Given the description of an element on the screen output the (x, y) to click on. 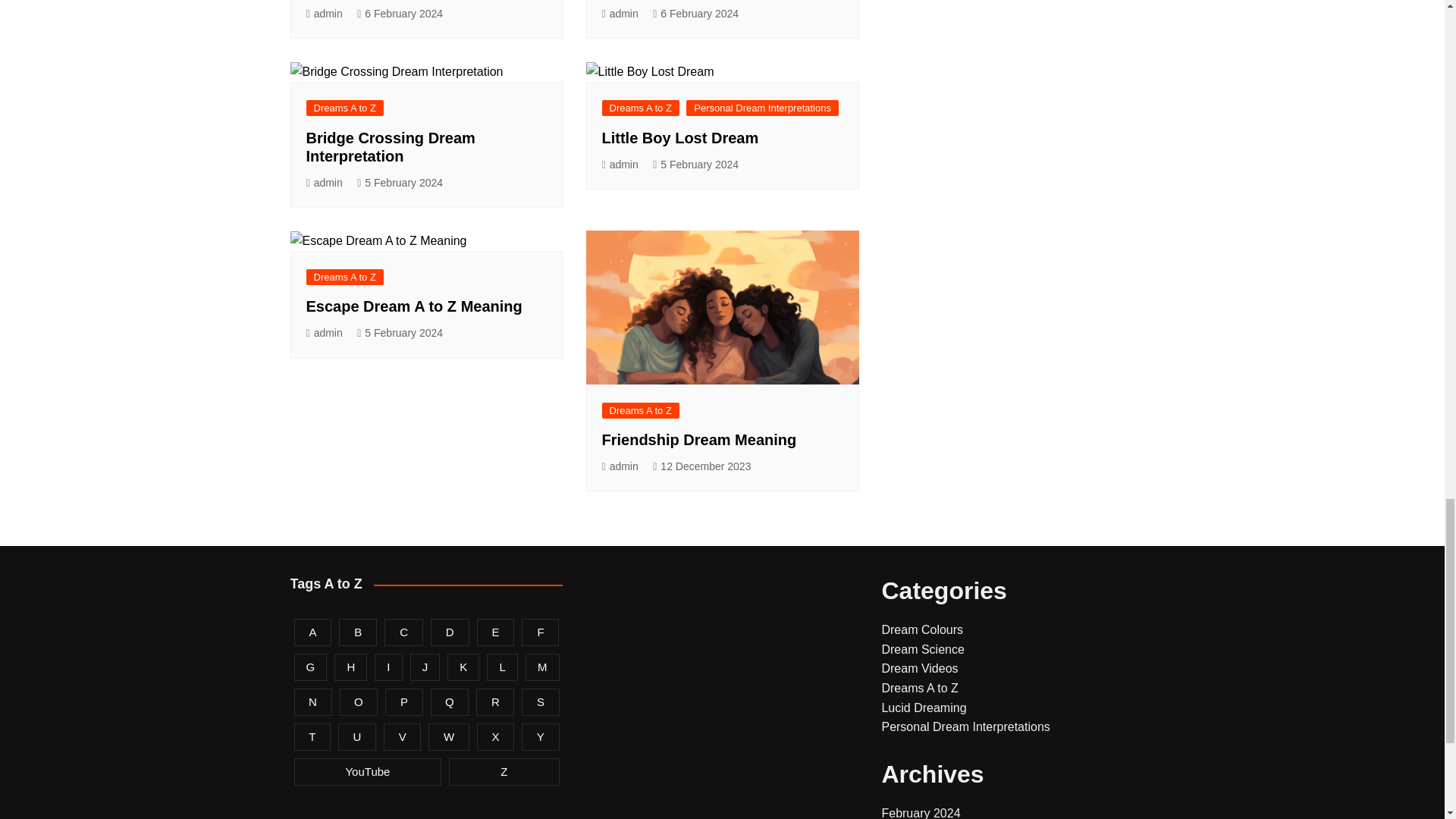
6 February 2024 (399, 13)
admin (620, 13)
admin (323, 13)
